Given the description of an element on the screen output the (x, y) to click on. 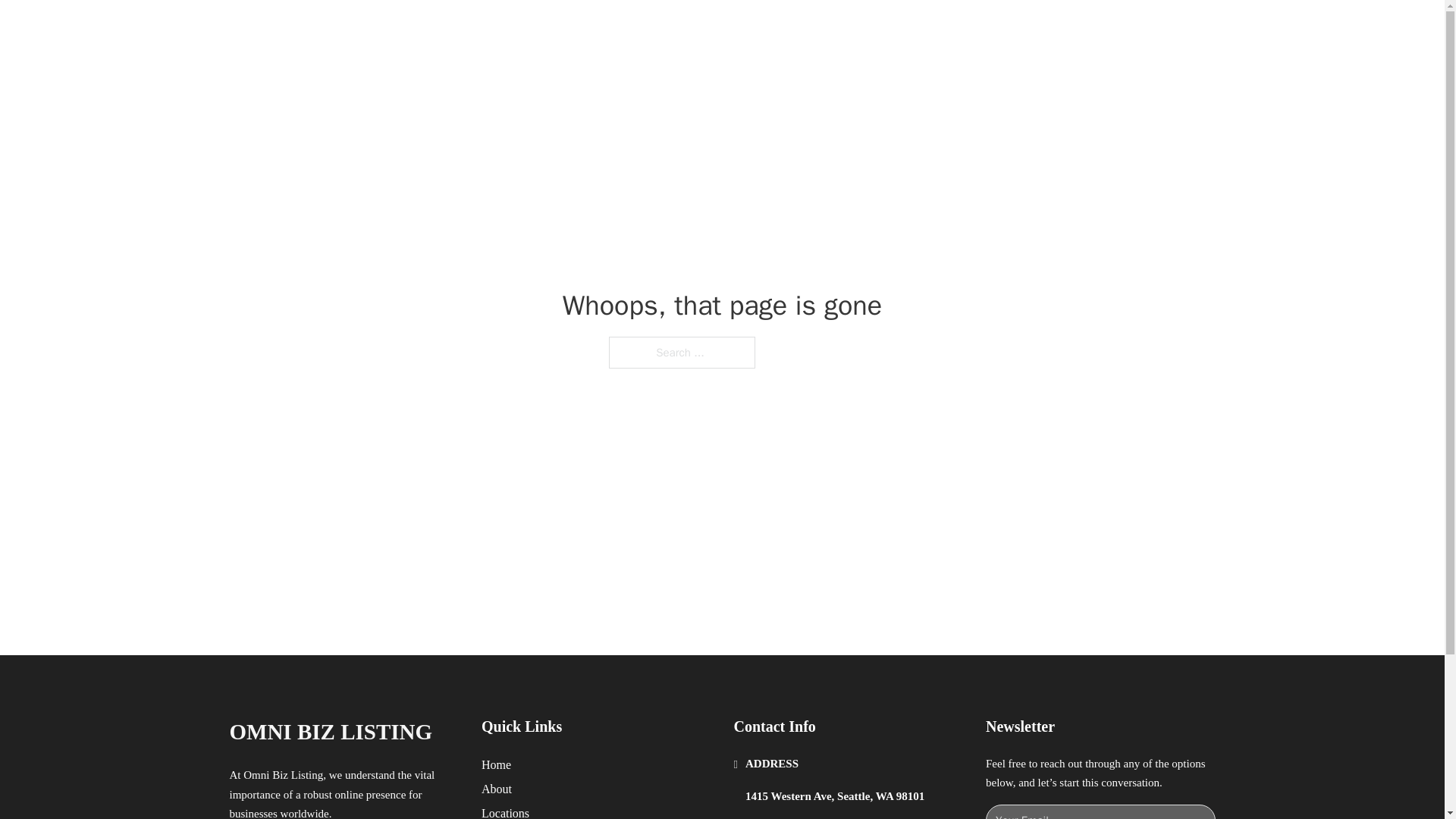
About (496, 788)
HOME (919, 29)
Home (496, 764)
OMNI BIZ LISTING (330, 732)
LOCATIONS (990, 29)
OMNI BIZ LISTING (400, 28)
Locations (505, 811)
